Given the description of an element on the screen output the (x, y) to click on. 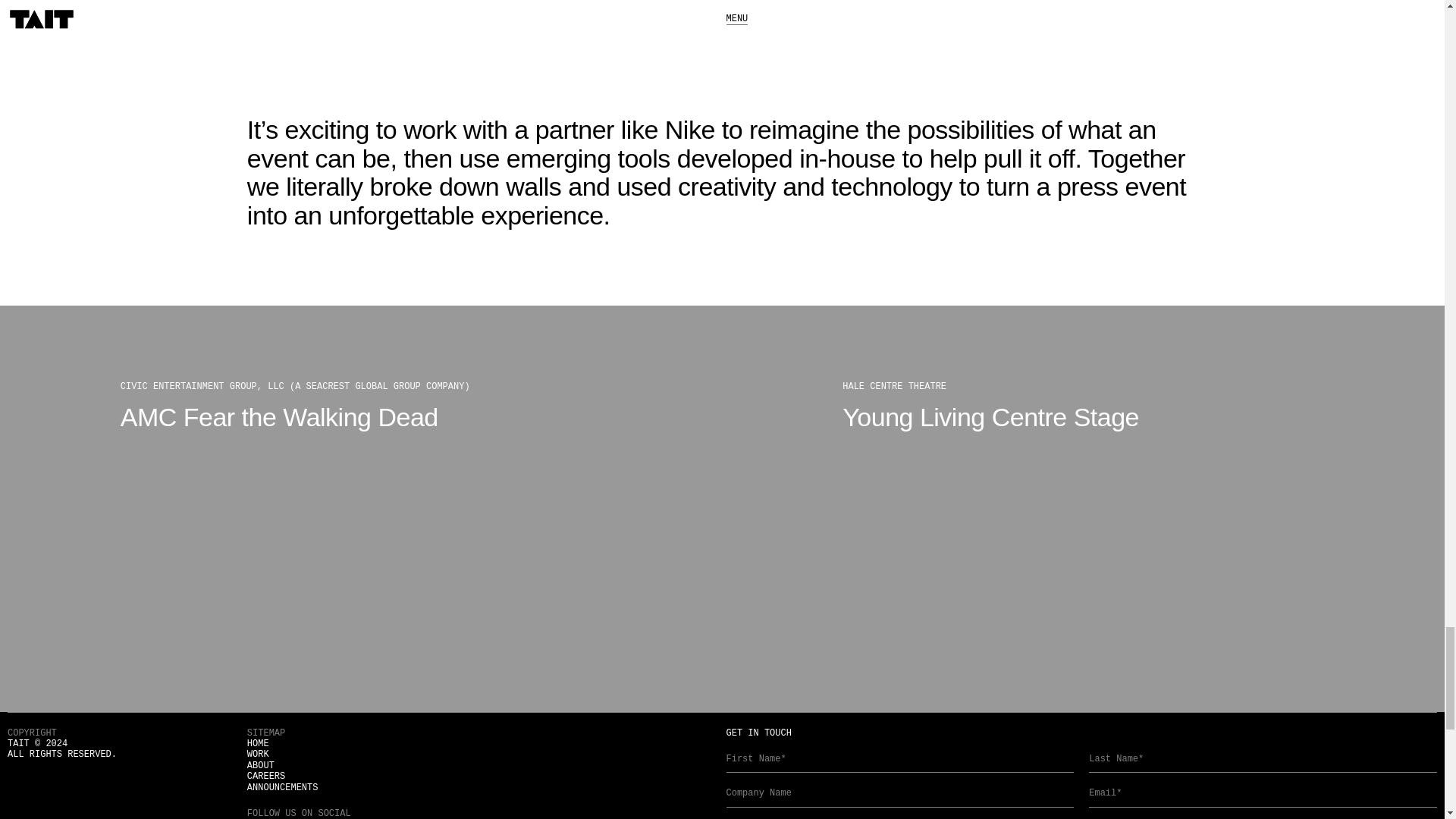
ABOUT (261, 765)
WORK (258, 754)
ANNOUNCEMENTS (282, 787)
HOME (258, 743)
CAREERS (266, 776)
